Given the description of an element on the screen output the (x, y) to click on. 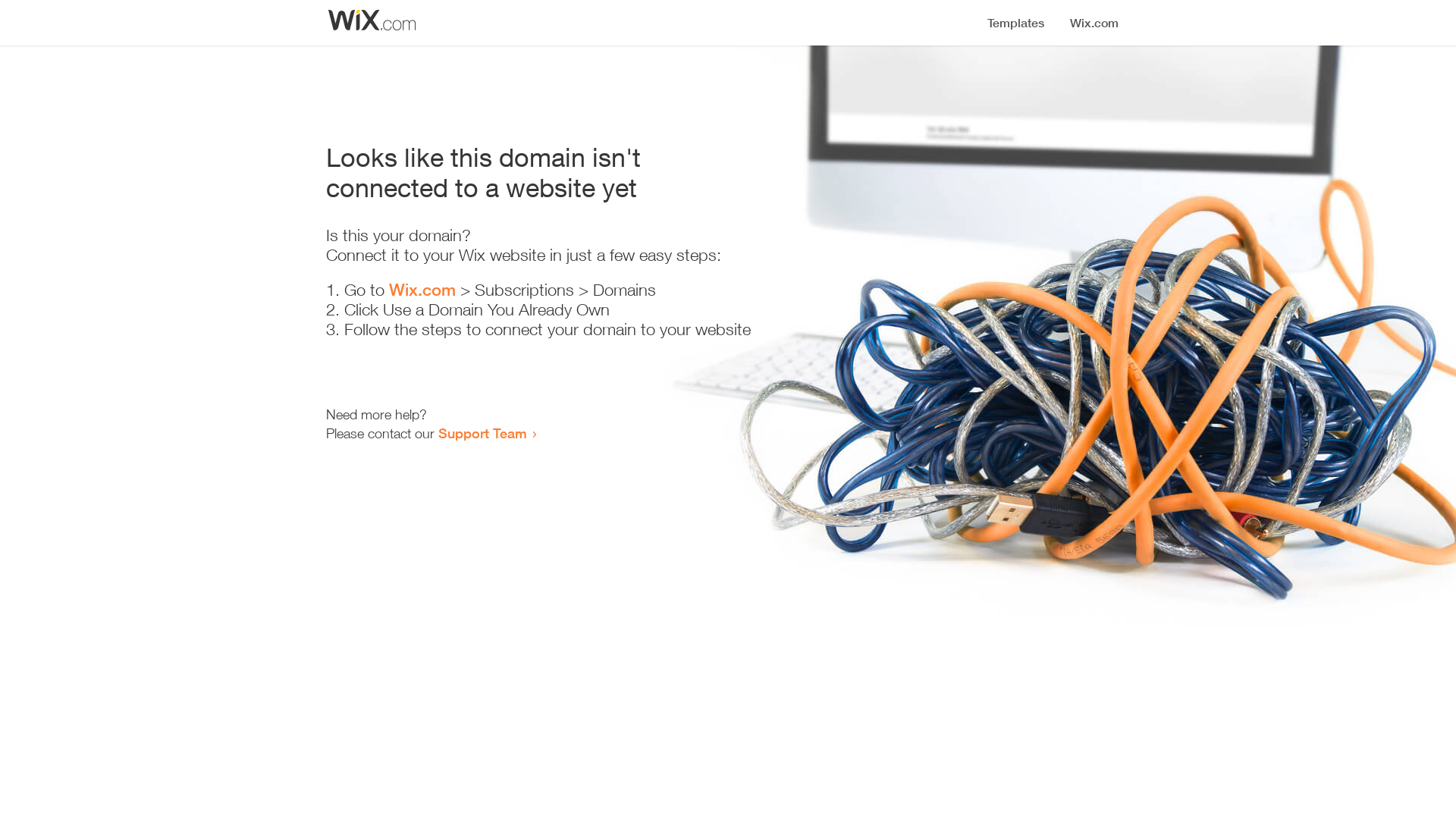
Wix.com Element type: text (422, 289)
Support Team Element type: text (482, 432)
